Given the description of an element on the screen output the (x, y) to click on. 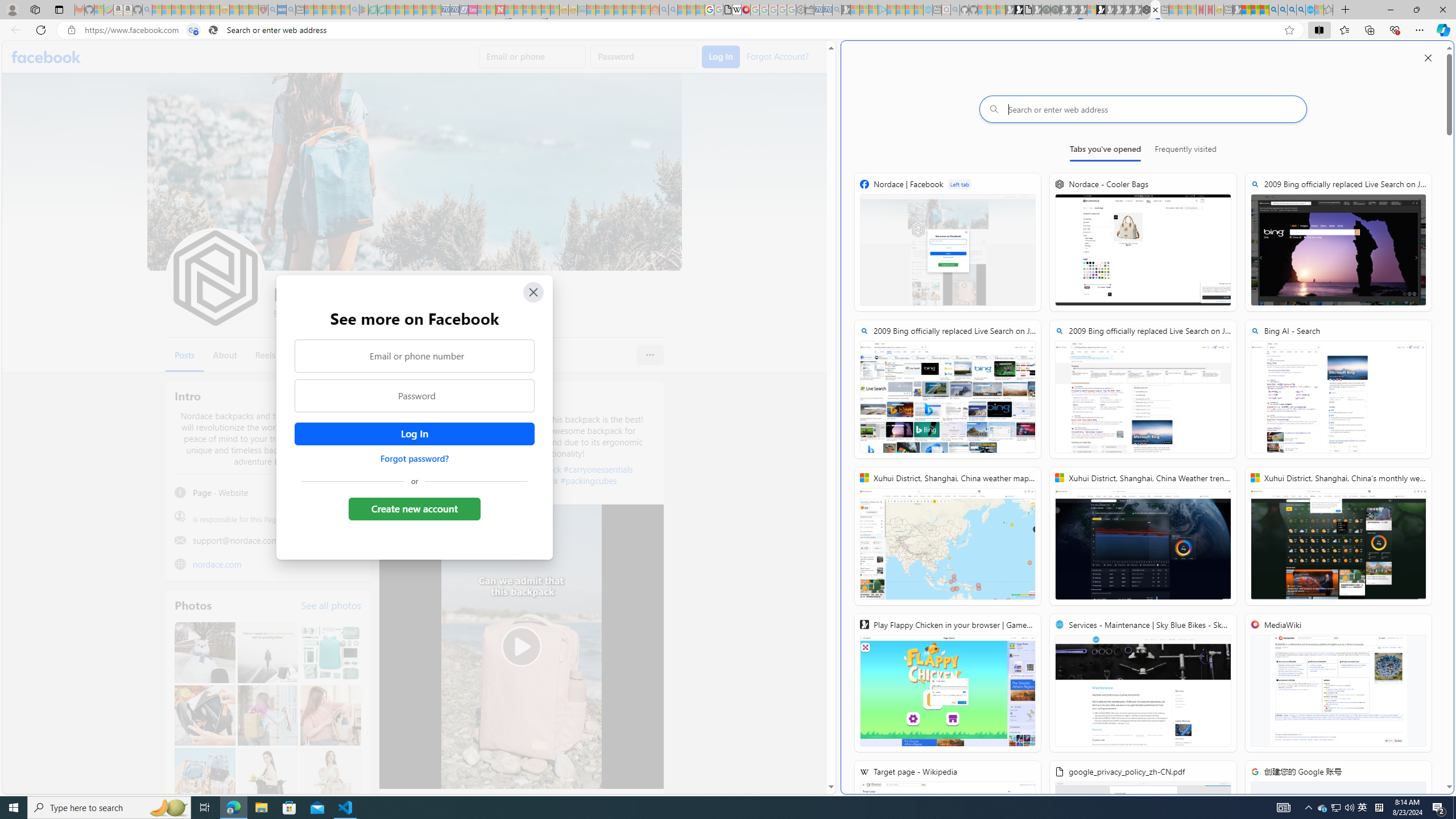
Create new account (413, 508)
Future Focus Report 2024 - Sleeping (1054, 9)
Cheap Hotels - Save70.com - Sleeping (454, 9)
Robert H. Shmerling, MD - Harvard Health - Sleeping (263, 9)
2009 Bing officially replaced Live Search on June 3 - Search (1283, 9)
Frequently visited (1185, 151)
Jobs - lastminute.com Investor Portal - Sleeping (472, 9)
